Given the description of an element on the screen output the (x, y) to click on. 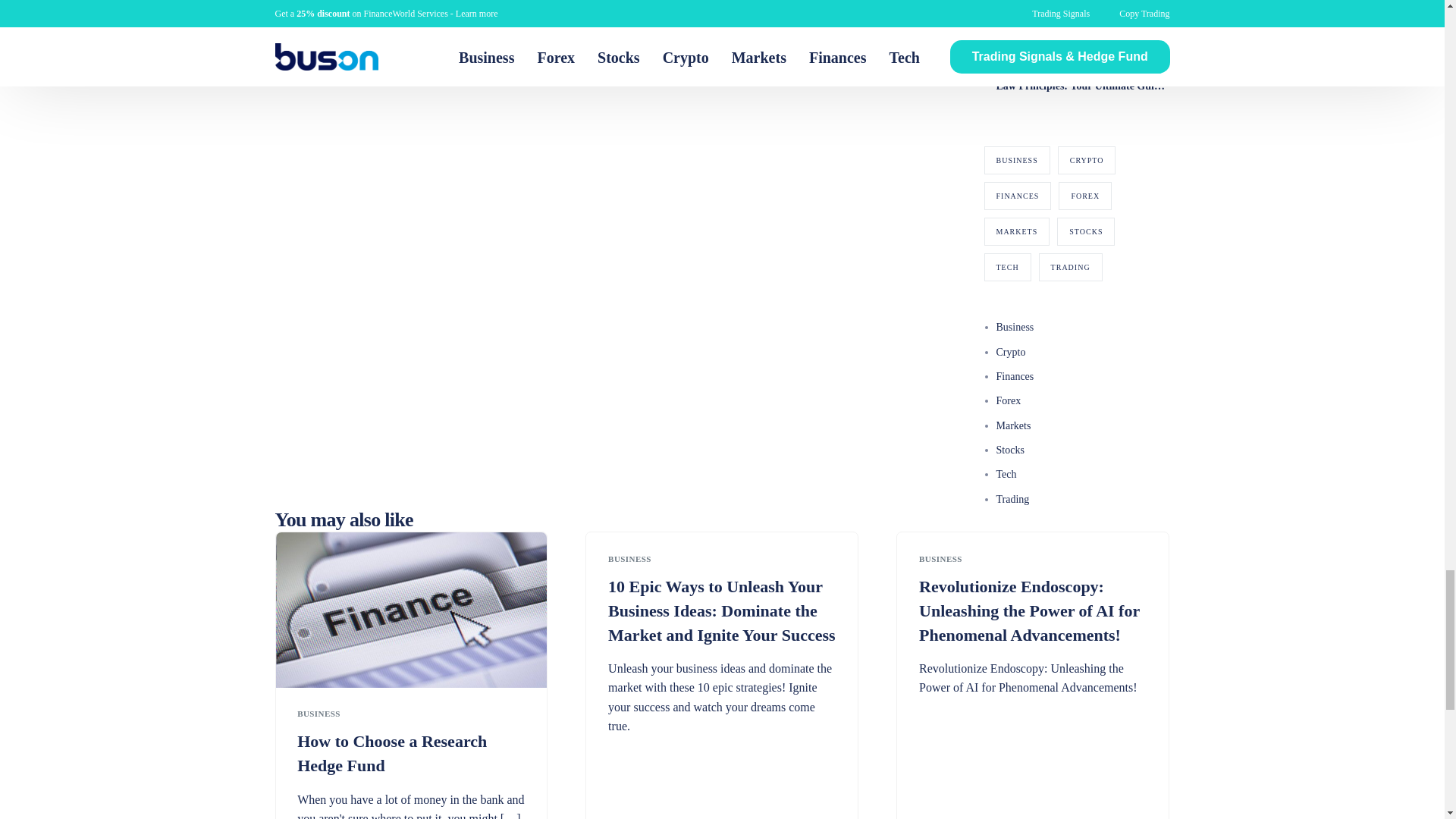
What You Need to Know About Vanguard Stock Trading Fees (441, 22)
